Given the description of an element on the screen output the (x, y) to click on. 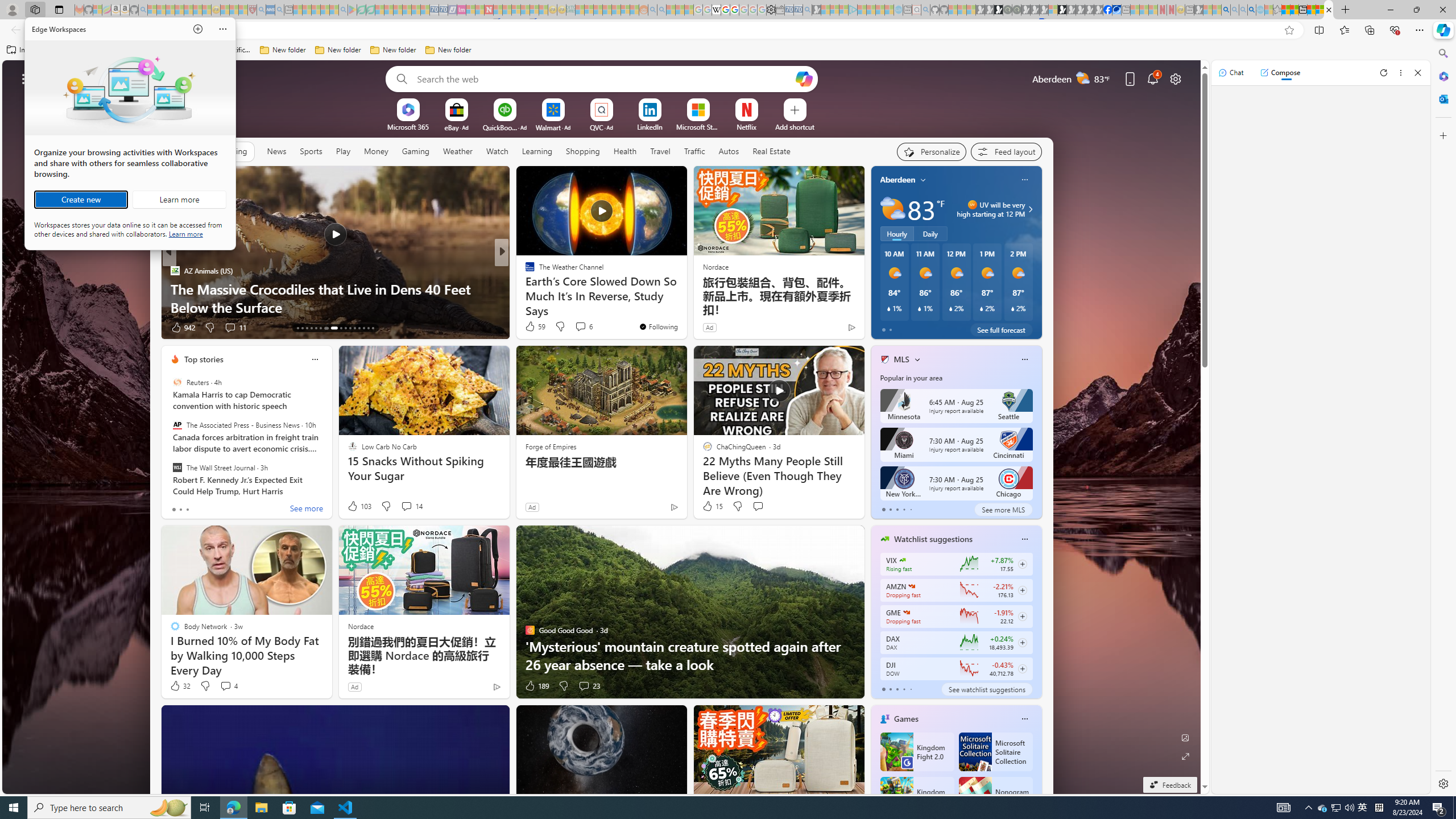
tab-1 (889, 689)
Class: icon-img (1024, 718)
Tired of Google? Try These 5 Other Search Engines Instead (684, 298)
tab-4 (910, 689)
User Promoted Notification Area (1336, 807)
15 Like (712, 505)
AutomationID: tab-24 (354, 328)
View comments 11 Comment (580, 327)
